Given the description of an element on the screen output the (x, y) to click on. 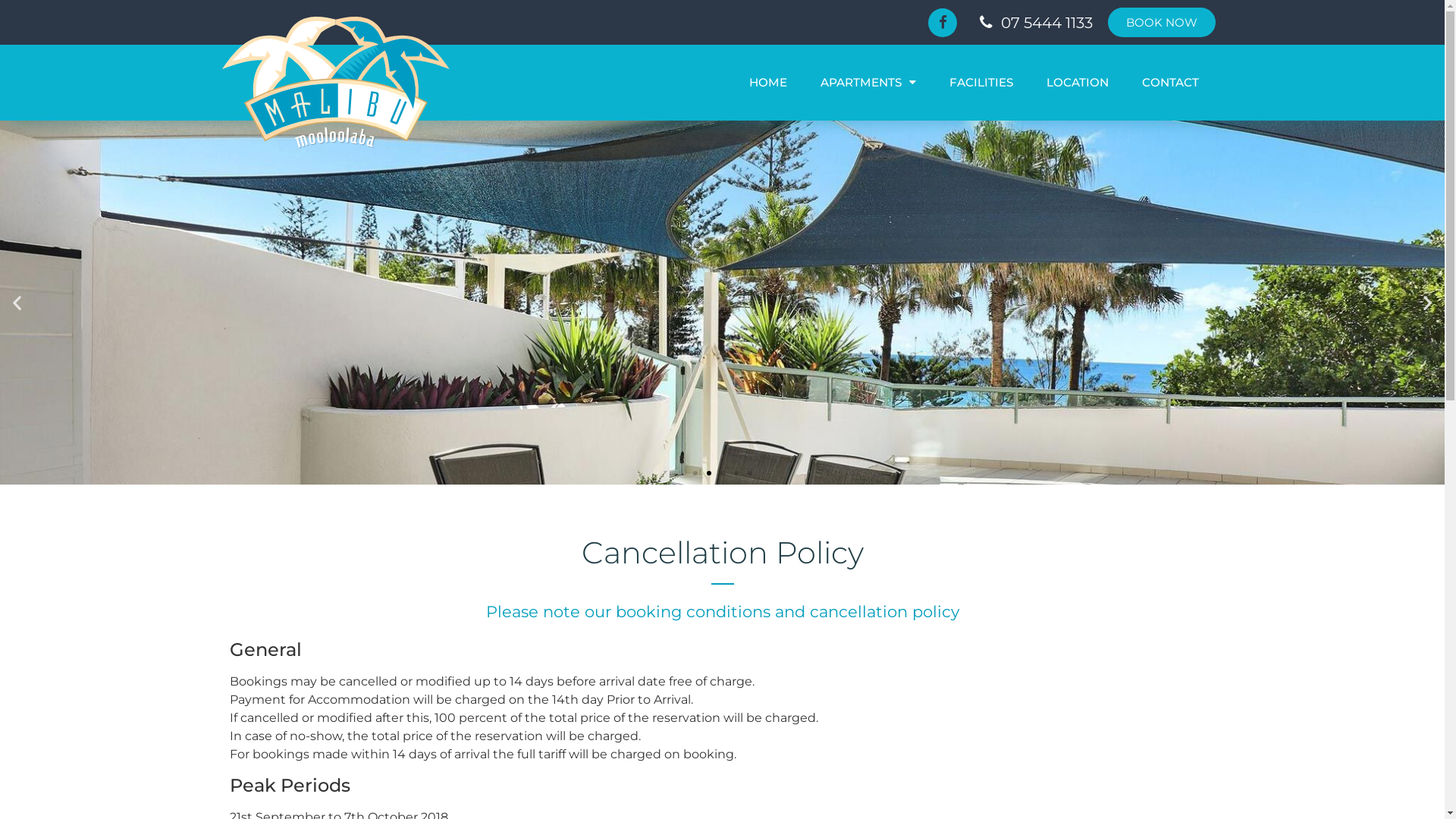
FACILITIES Element type: text (980, 82)
BOOK NOW Element type: text (1160, 22)
07 5444 1133 Element type: text (1032, 21)
CONTACT Element type: text (1170, 82)
LOCATION Element type: text (1077, 82)
HOME Element type: text (767, 82)
APARTMENTS Element type: text (867, 82)
